Given the description of an element on the screen output the (x, y) to click on. 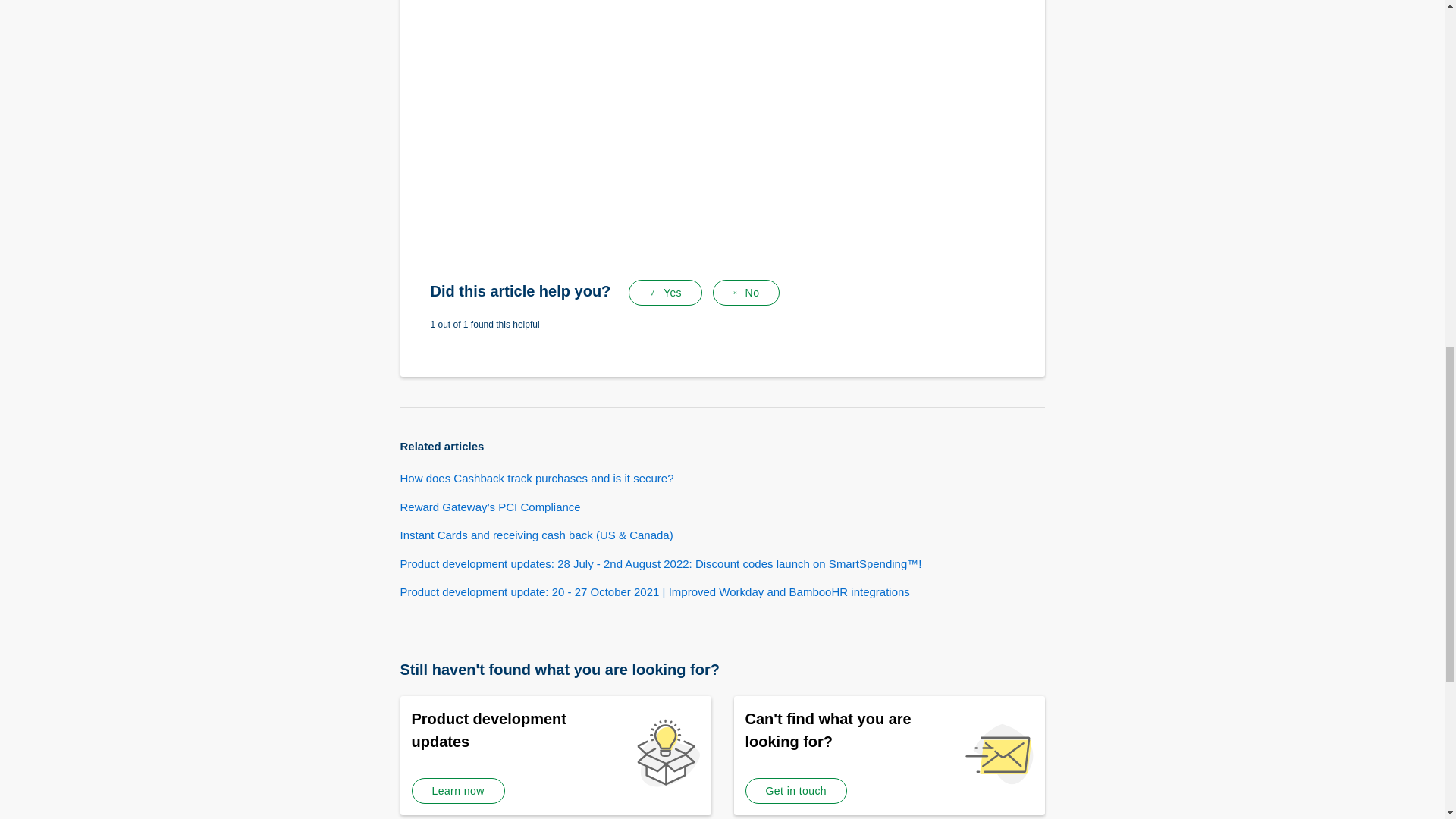
No (745, 292)
Learn now (456, 790)
How does Cashback track purchases and is it secure? (537, 477)
Get in touch (795, 790)
Yes (664, 292)
